Given the description of an element on the screen output the (x, y) to click on. 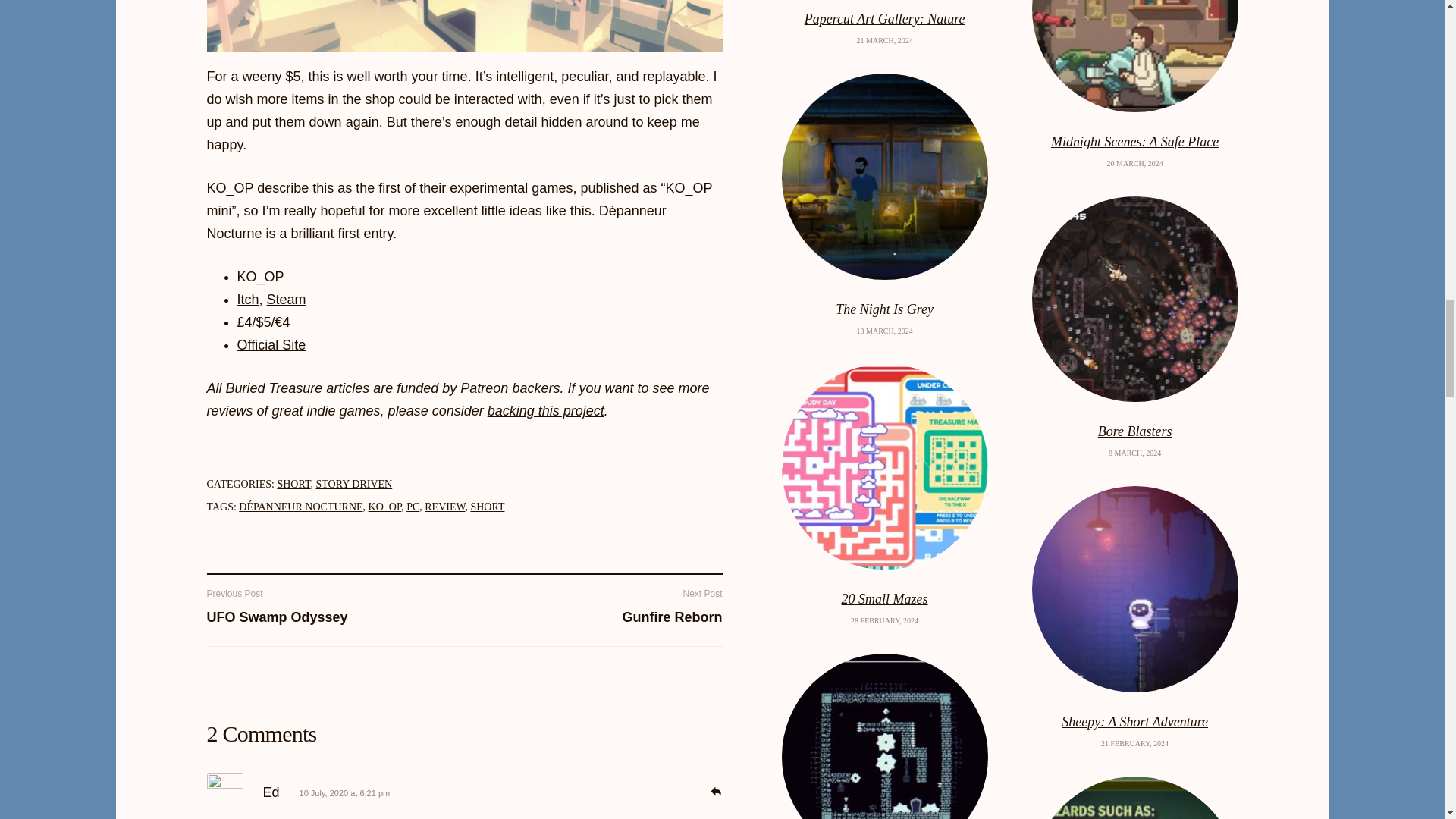
UFO Swamp Odyssey (276, 616)
Official Site (270, 344)
PC (412, 506)
SHORT (293, 483)
SHORT (486, 506)
Reply (714, 789)
10 July, 2020 at 6:21 pm (344, 792)
Itch (247, 299)
Steam (285, 299)
REVIEW (444, 506)
